Given the description of an element on the screen output the (x, y) to click on. 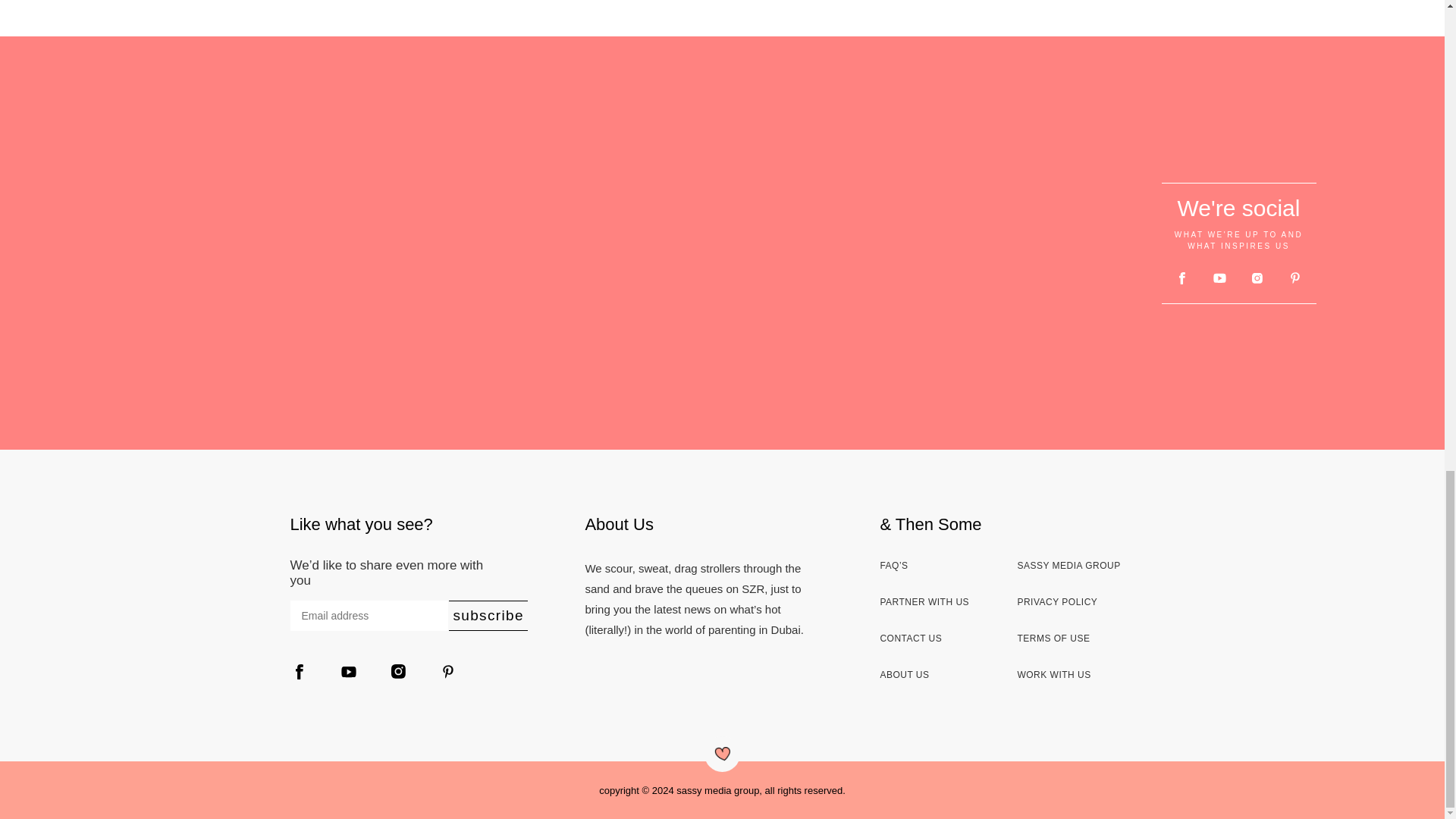
Subscribe (487, 615)
